Given the description of an element on the screen output the (x, y) to click on. 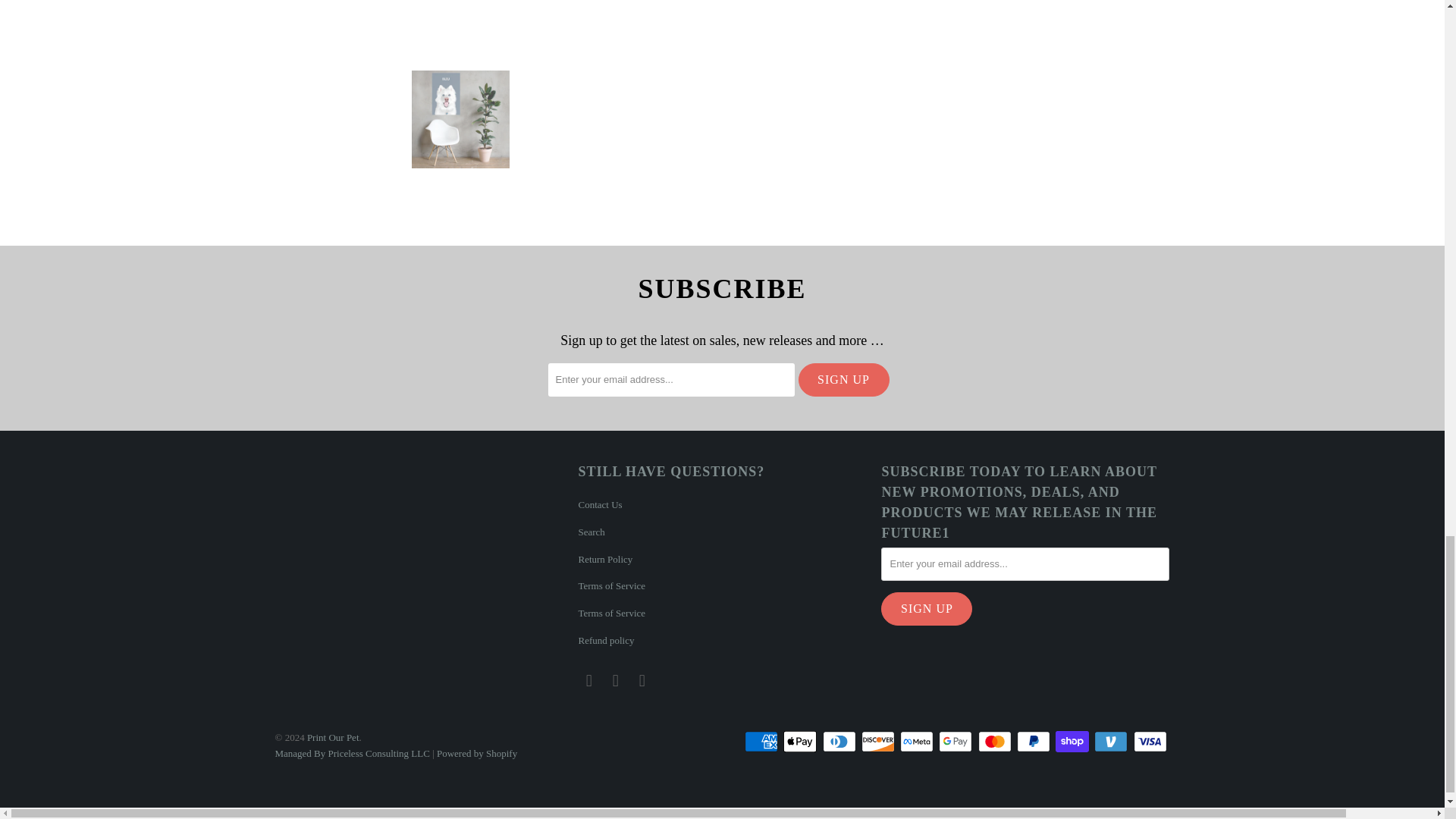
Meta Pay (917, 741)
Sign Up (926, 608)
Print Our Pet on Facebook (588, 680)
Email Print Our Pet (641, 680)
Visa (1150, 741)
American Express (762, 741)
Google Pay (957, 741)
Print Our Pet on Instagram (615, 680)
Diners Club (840, 741)
Venmo (1112, 741)
PayPal (1034, 741)
Mastercard (996, 741)
Apple Pay (801, 741)
Sign Up (842, 379)
Discover (879, 741)
